Given the description of an element on the screen output the (x, y) to click on. 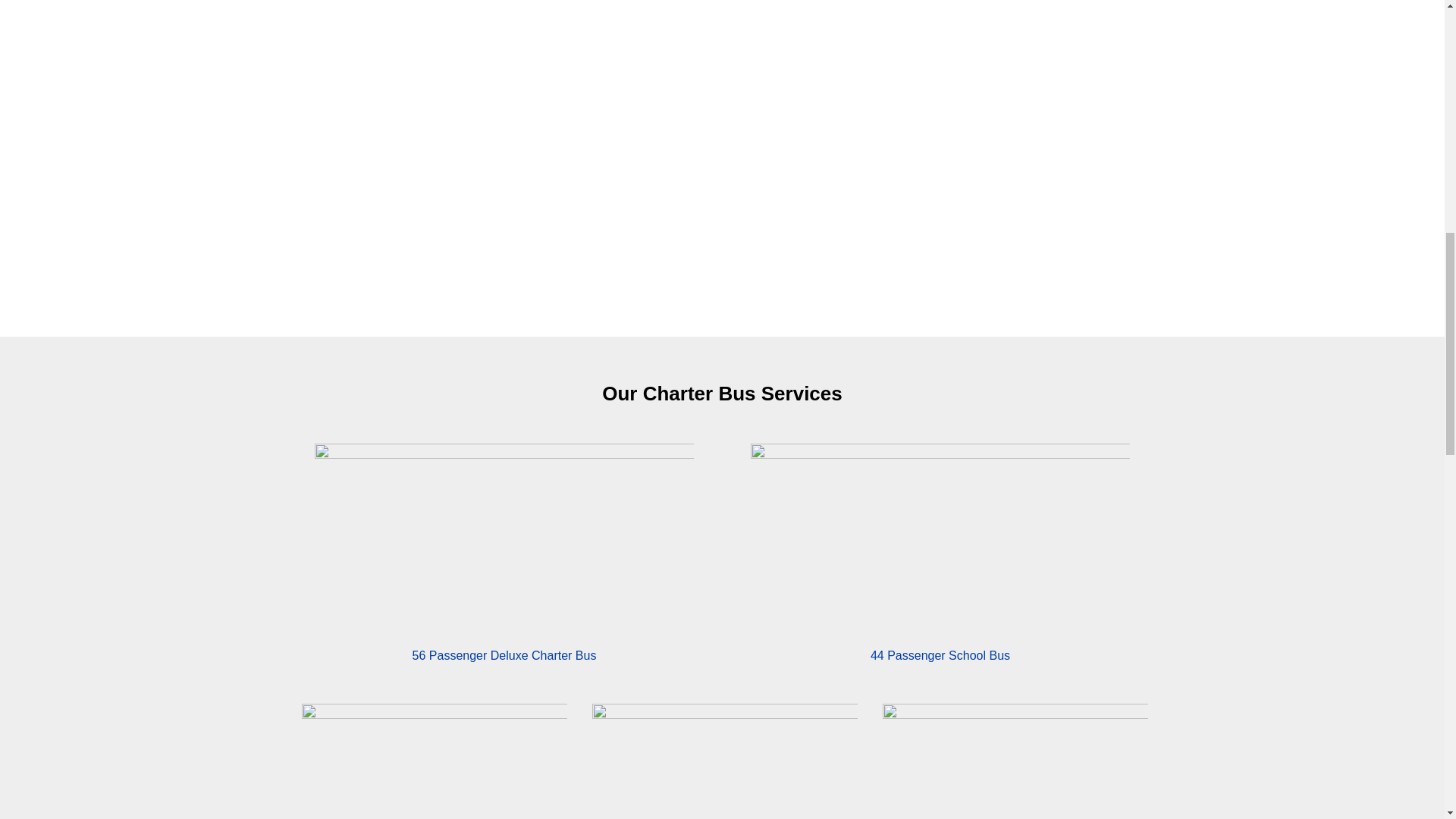
12 Passenger Sprinter Van (1015, 765)
School Bus (940, 531)
